Given the description of an element on the screen output the (x, y) to click on. 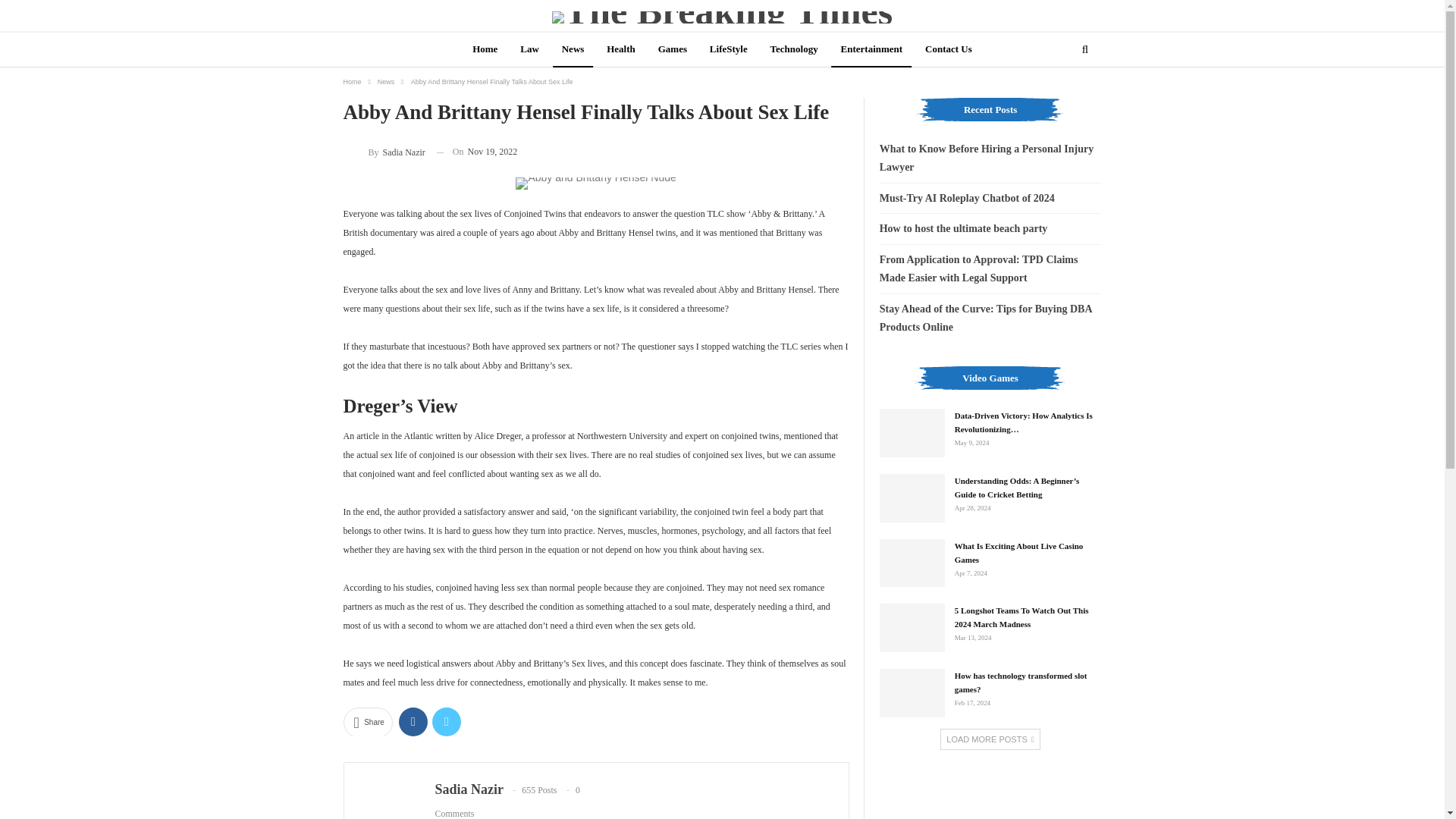
Contact Us (948, 49)
Law (529, 49)
Home (484, 49)
Health (620, 49)
Must-Try AI Roleplay Chatbot of 2024 (966, 197)
Technology (794, 49)
LifeStyle (728, 49)
By Sadia Nazir (383, 151)
